Given the description of an element on the screen output the (x, y) to click on. 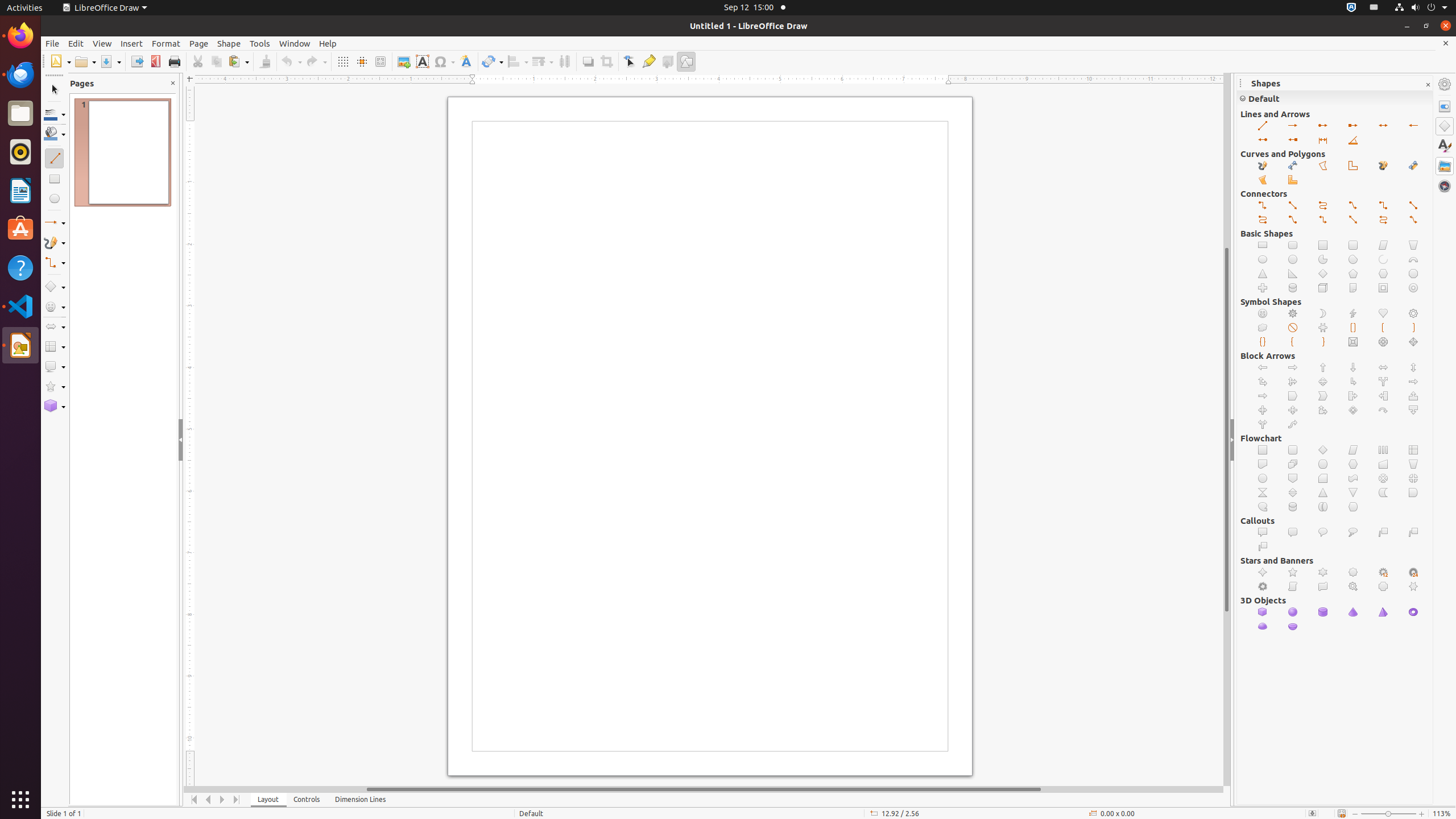
Polygon Element type: list-item (1323, 165)
Flowchart: Punched Tape Element type: list-item (1353, 478)
Down Arrow Element type: list-item (1353, 367)
